Given the description of an element on the screen output the (x, y) to click on. 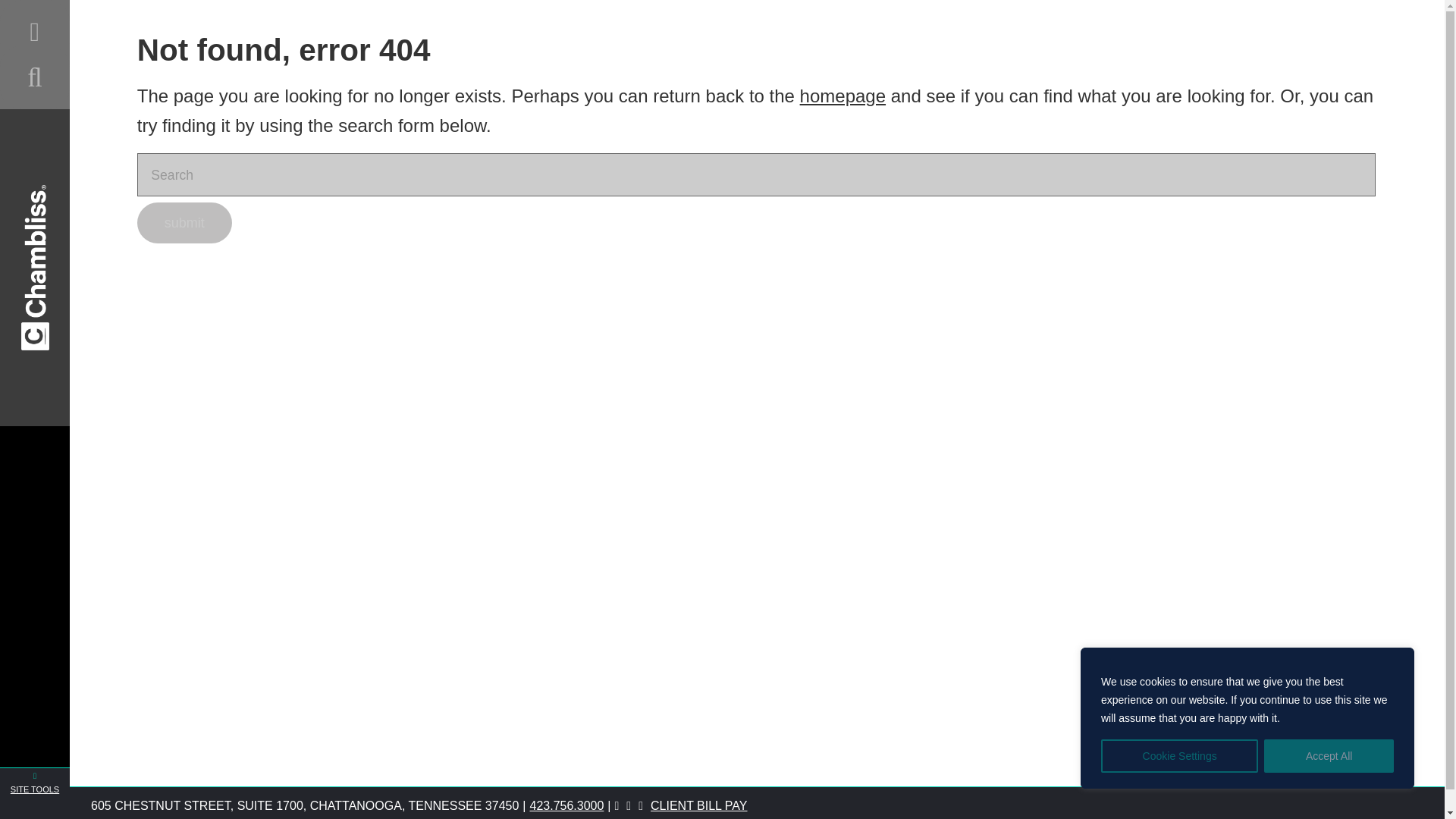
submit (183, 222)
client bill pay (698, 805)
Cookie Settings (1178, 756)
homepage (842, 95)
SITE TOOLS (34, 793)
submit (183, 222)
CLIENT BILL PAY (698, 805)
Accept All (1328, 756)
423.756.3000 (571, 805)
submit (183, 222)
